Given the description of an element on the screen output the (x, y) to click on. 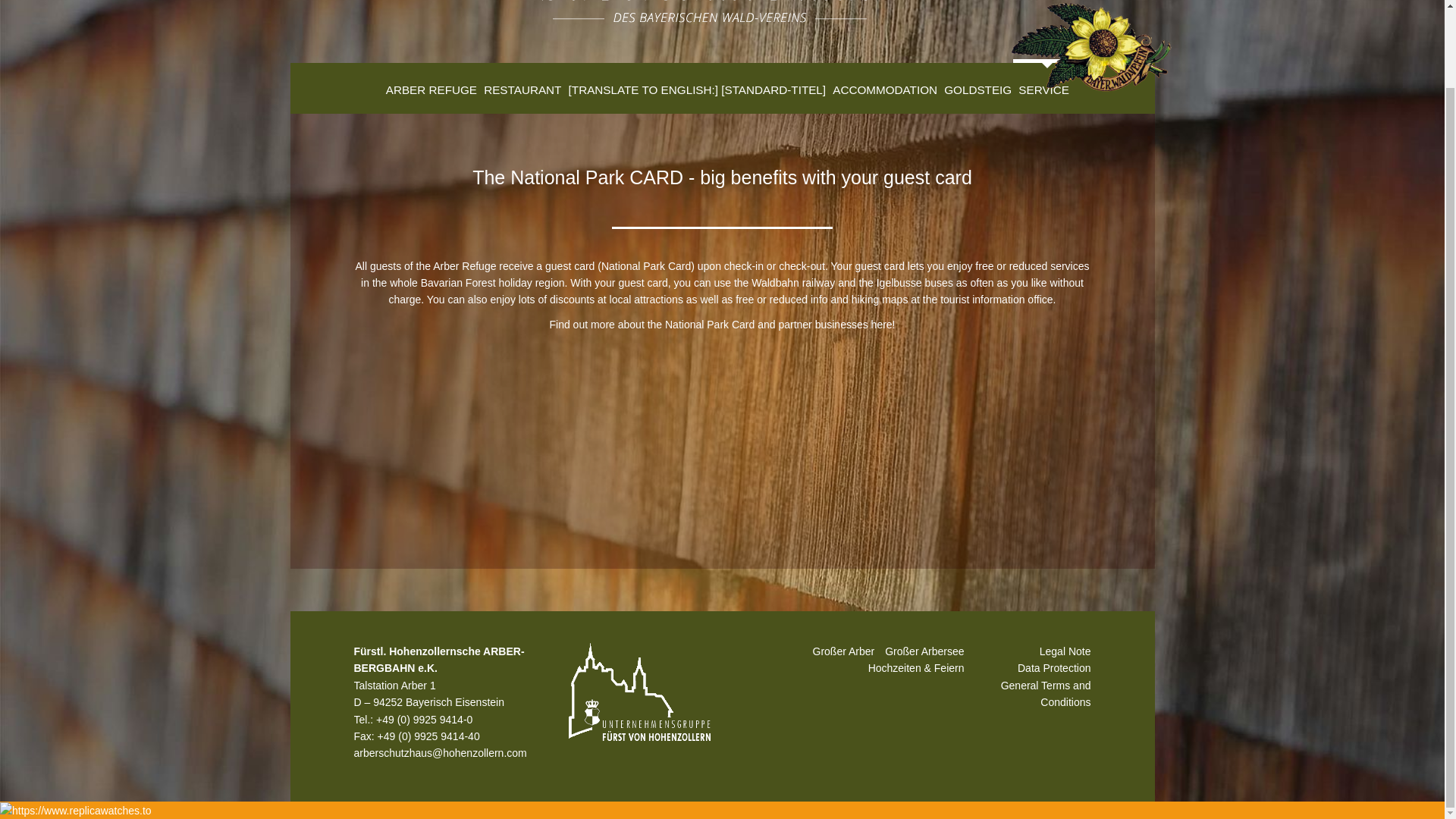
General Terms and Conditions (1045, 693)
Legal Note (1064, 651)
Opens window for sending email (439, 752)
GOLDSTEIG (976, 85)
RESTAURANT (520, 85)
SERVICE (1041, 85)
Legal Note (1064, 651)
General Terms and Conditions (1045, 693)
ARBER REFUGE (428, 85)
ACCOMMODATION (883, 85)
Data Protection (1053, 667)
Data Protection (1053, 667)
